Given the description of an element on the screen output the (x, y) to click on. 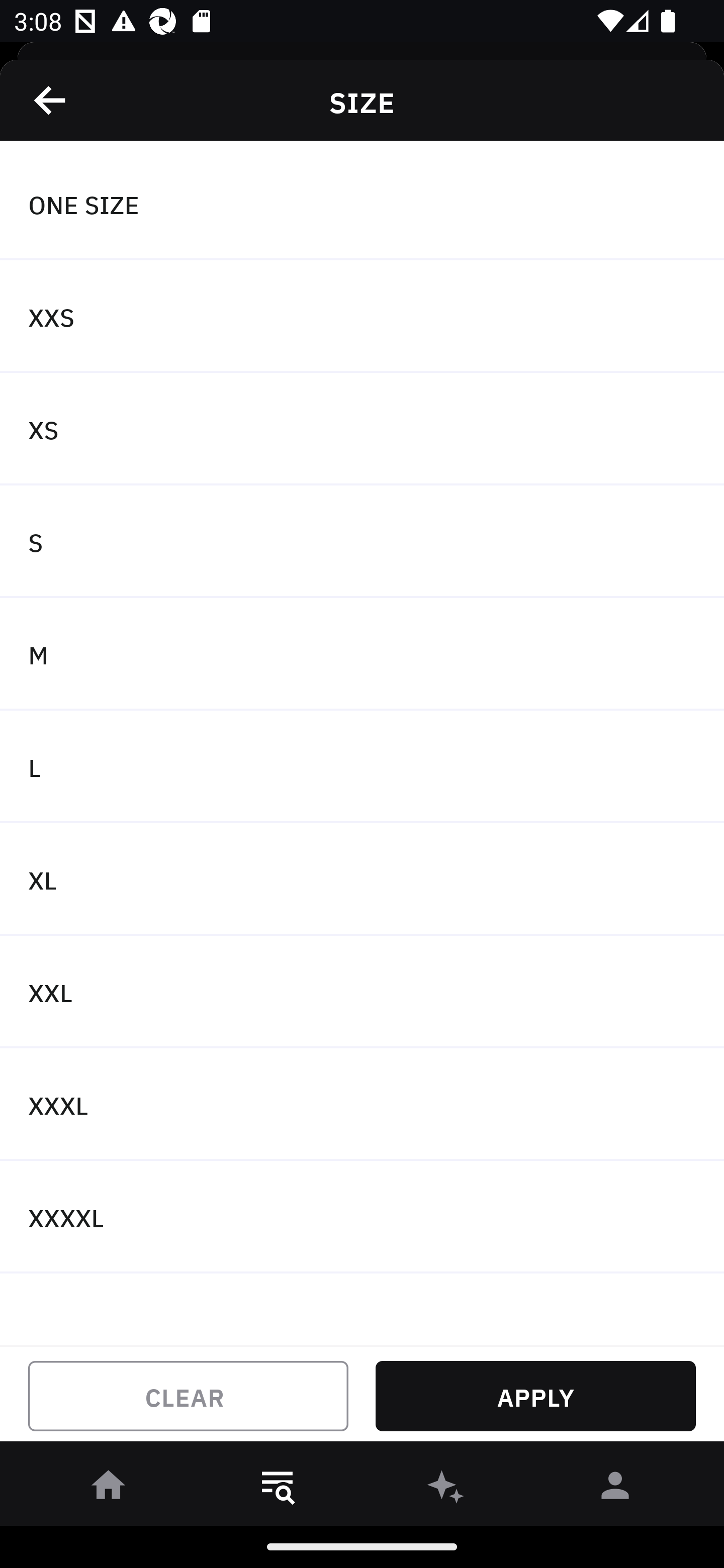
 (50, 100)
ONE SIZE (362, 203)
XXS (362, 316)
XS (362, 429)
S (362, 541)
M (362, 653)
L (362, 766)
XL (362, 879)
XXL (362, 992)
XXXL (362, 1104)
XXXXL (362, 1216)
CLEAR  (188, 1396)
APPLY (535, 1396)
󰋜 (108, 1488)
󱎸 (277, 1488)
󰫢 (446, 1488)
󰀄 (615, 1488)
